Given the description of an element on the screen output the (x, y) to click on. 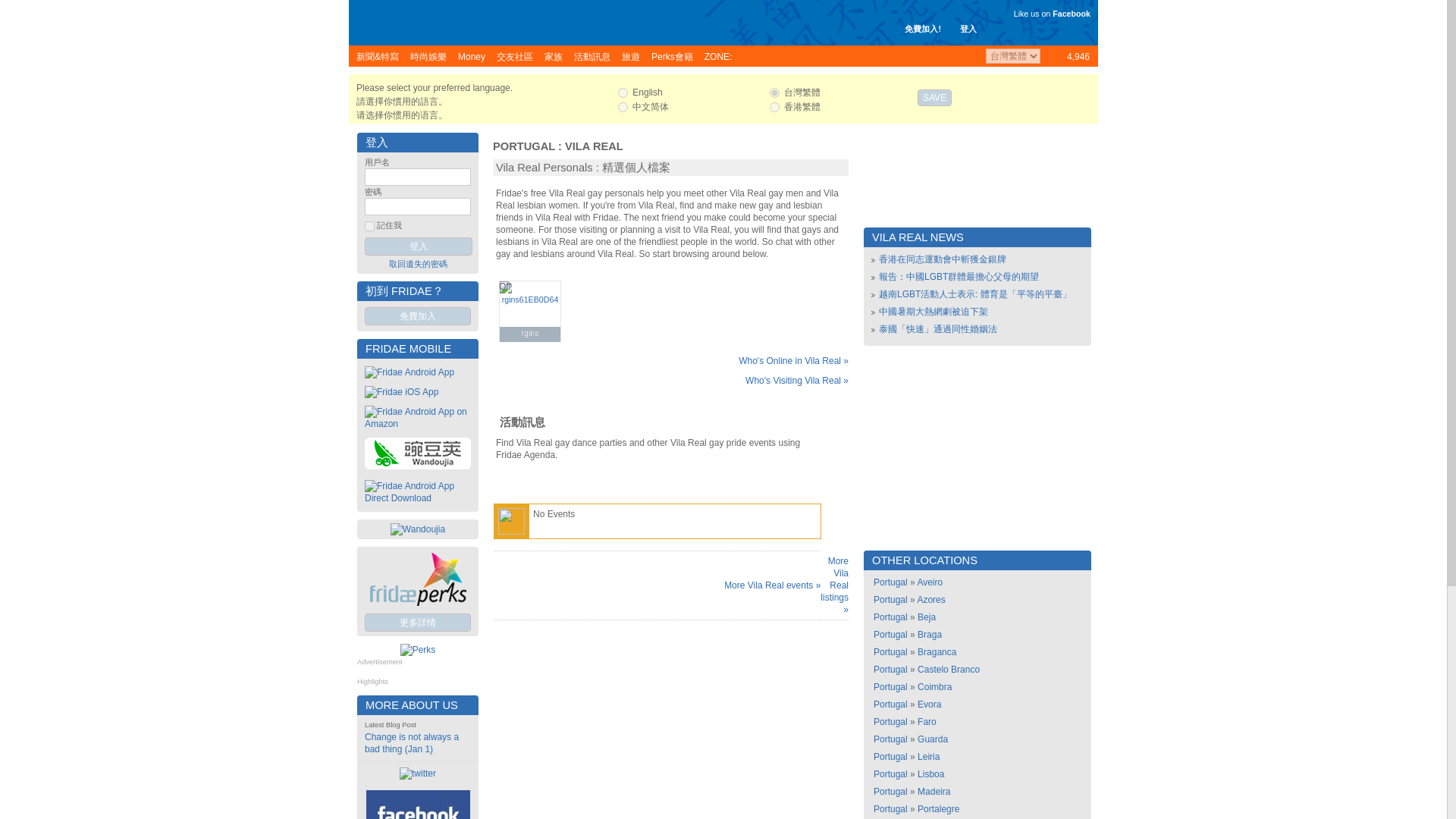
Worldwide (1068, 56)
Facebook (1071, 13)
tc (774, 92)
4,946 (1068, 56)
hk (774, 107)
en (622, 92)
Close this panel (1087, 86)
Offline (505, 286)
sc (622, 107)
1 (369, 225)
ZONE: (718, 55)
SAVE (934, 97)
Money (471, 55)
